Given the description of an element on the screen output the (x, y) to click on. 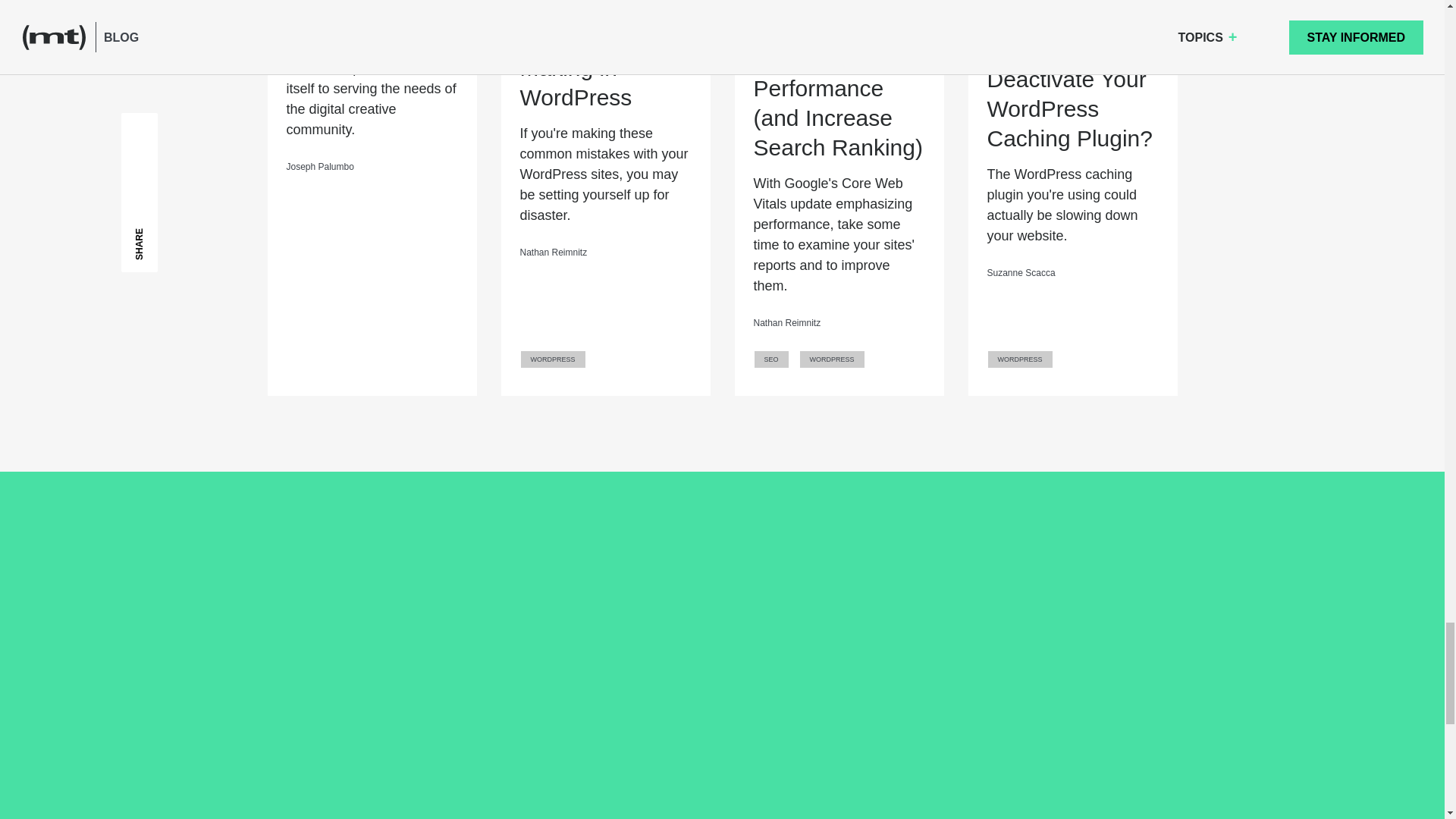
Joseph Palumbo (319, 166)
A New Chapter For Media Temple (371, 13)
